Given the description of an element on the screen output the (x, y) to click on. 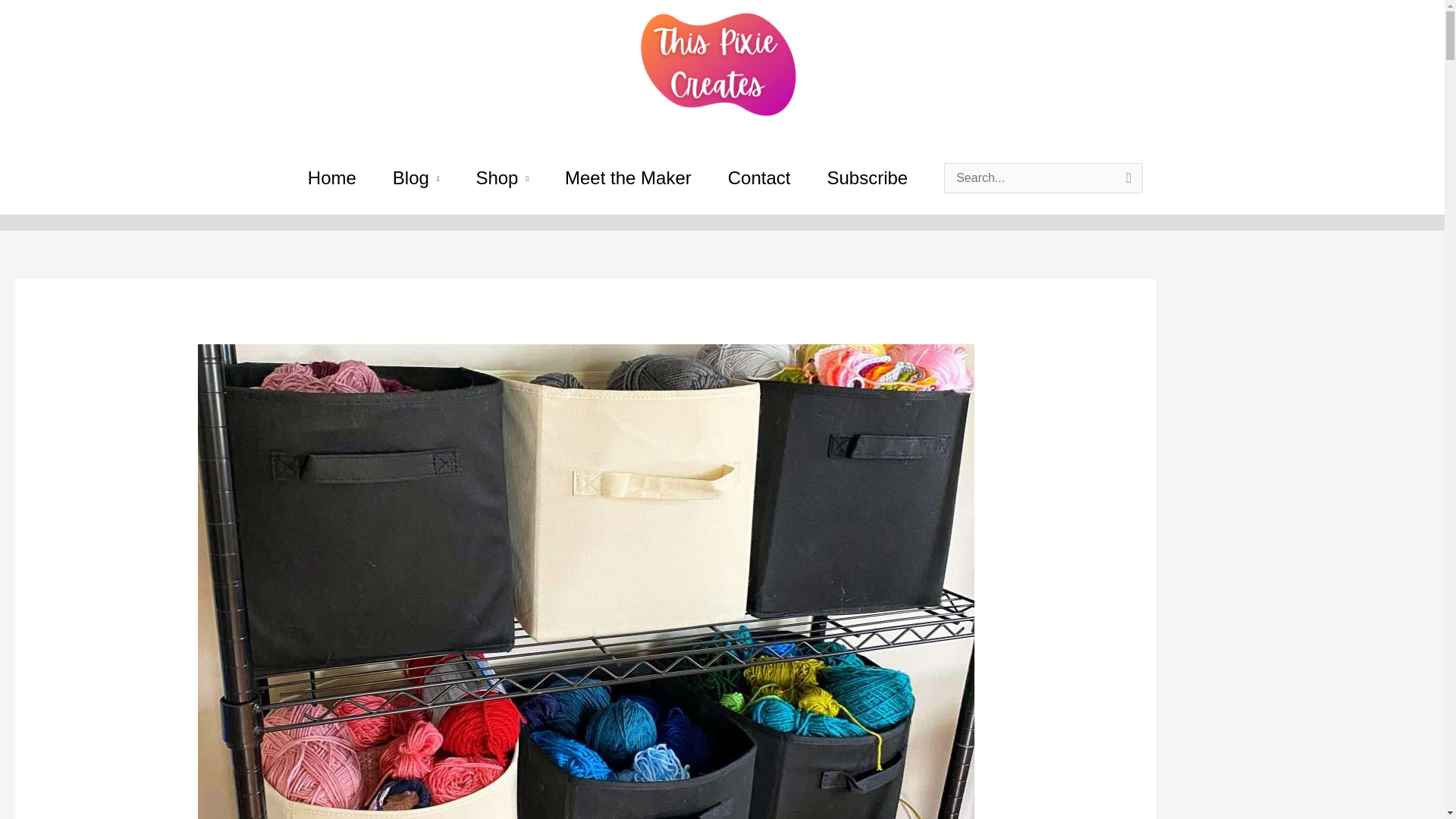
Shop (502, 177)
Meet the Maker (628, 177)
Contact Me (759, 177)
Subscribe (867, 177)
Contact (759, 177)
Blog (416, 177)
Home (331, 177)
